Given the description of an element on the screen output the (x, y) to click on. 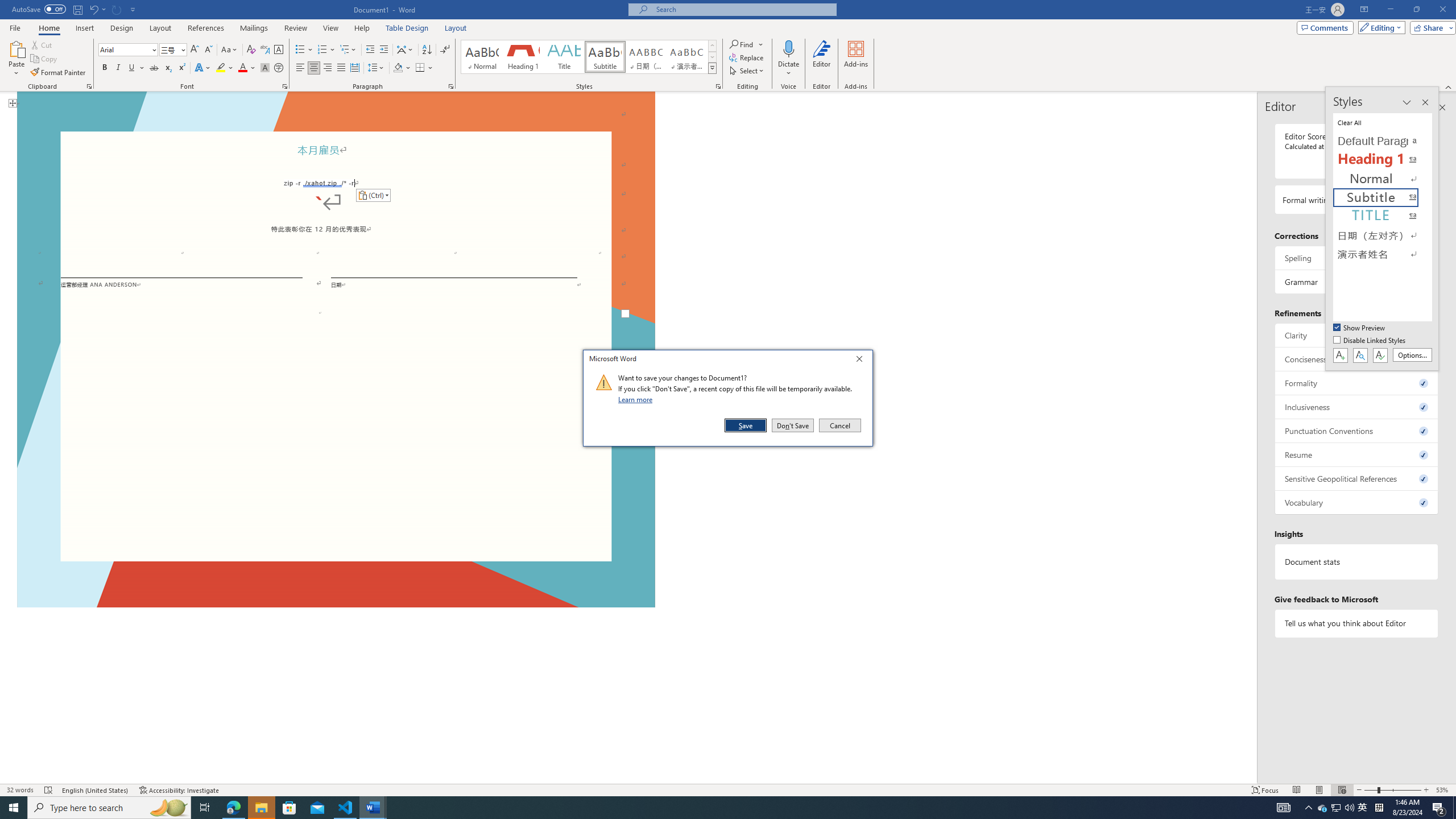
Options... (1412, 354)
Default Paragraph Font (1382, 140)
Class: NetUIButton (1380, 355)
Grammar, 1 issue. Press space or enter to review items. (1356, 281)
AutomationID: QuickStylesGallery (588, 56)
